Given the description of an element on the screen output the (x, y) to click on. 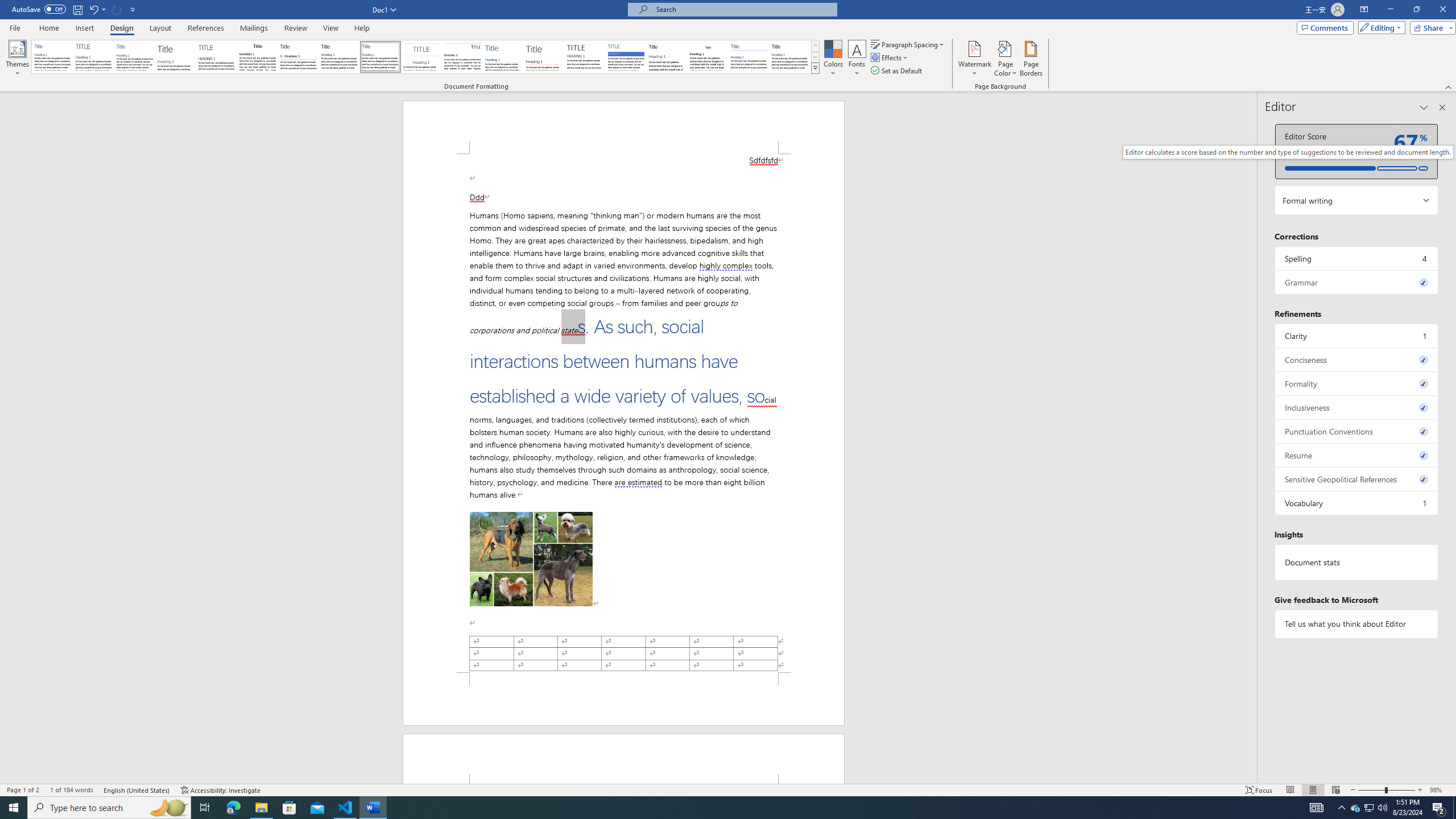
Word 2003 (707, 56)
Set as Default (897, 69)
Watermark (974, 58)
Grammar, 0 issues. Press space or enter to review items. (1356, 282)
